Given the description of an element on the screen output the (x, y) to click on. 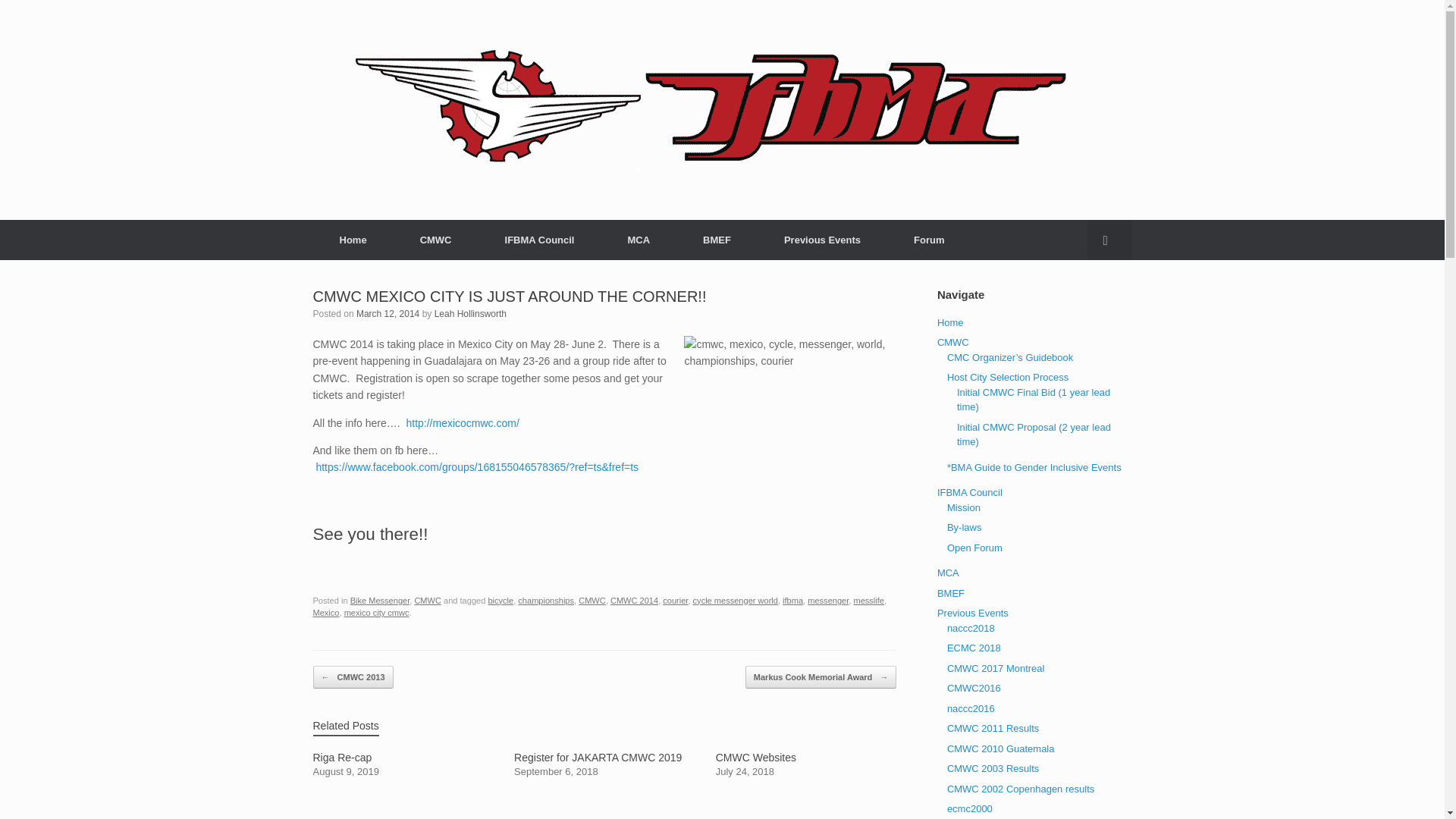
Leah Hollinsworth (469, 313)
CMWC Websites (806, 764)
11:20 pm (387, 313)
CMWC (591, 600)
Forum (928, 240)
View all posts by Leah Hollinsworth (469, 313)
Riga Re-cap (403, 764)
championships (545, 600)
messengers.org (691, 109)
MCA (638, 240)
IFBMA Council (540, 240)
Previous Events (821, 240)
CMWC (436, 240)
CMWC Mexico City 2014 (462, 422)
bicycle (500, 600)
